Given the description of an element on the screen output the (x, y) to click on. 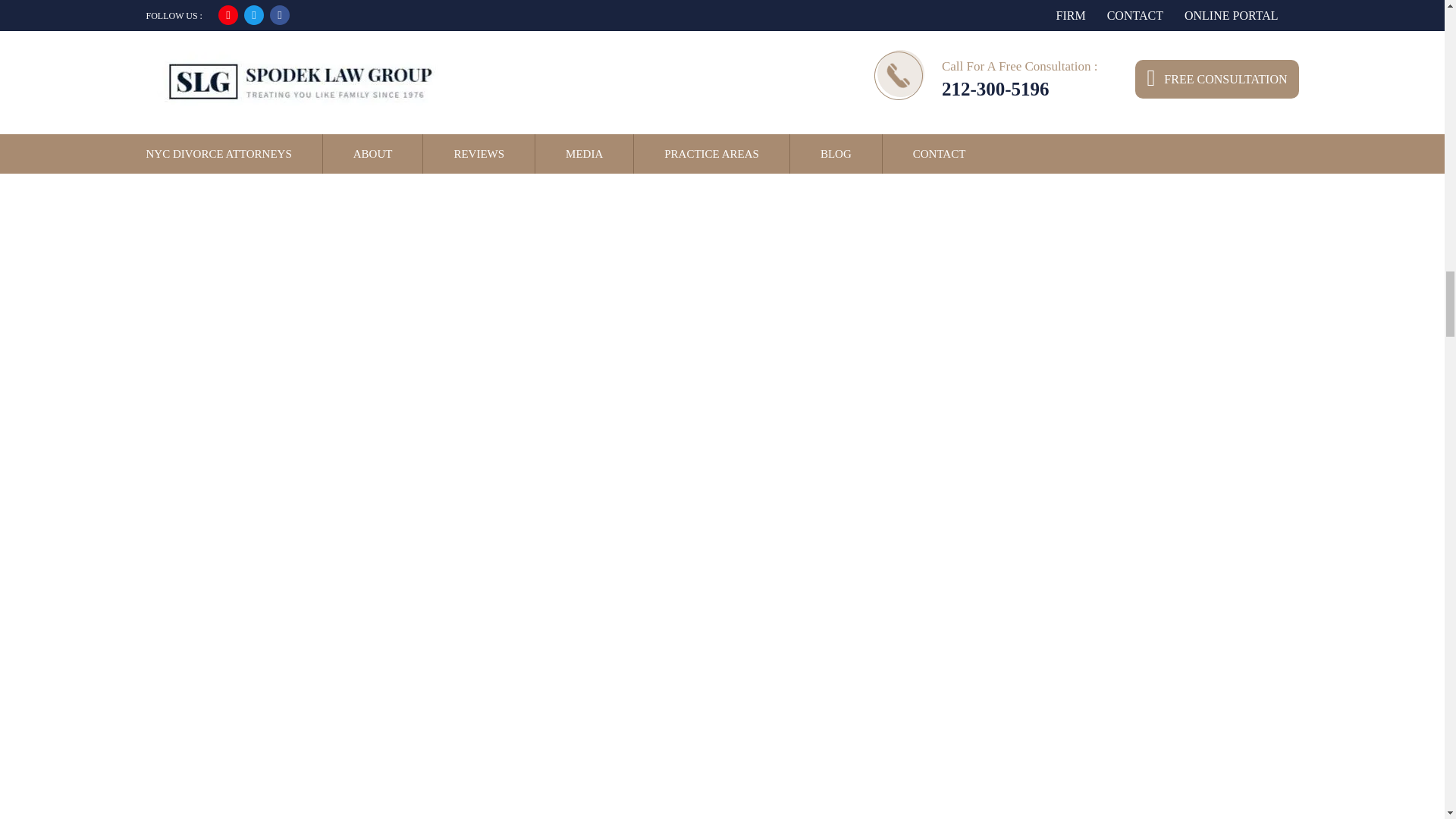
VIDEO: Anna Sorokin posed as Anna Delvey, officials say (334, 739)
ALEC BALDWIN ACCUSED STALKER JAIL TIME-ATTY SPEAKS (334, 544)
